Given the description of an element on the screen output the (x, y) to click on. 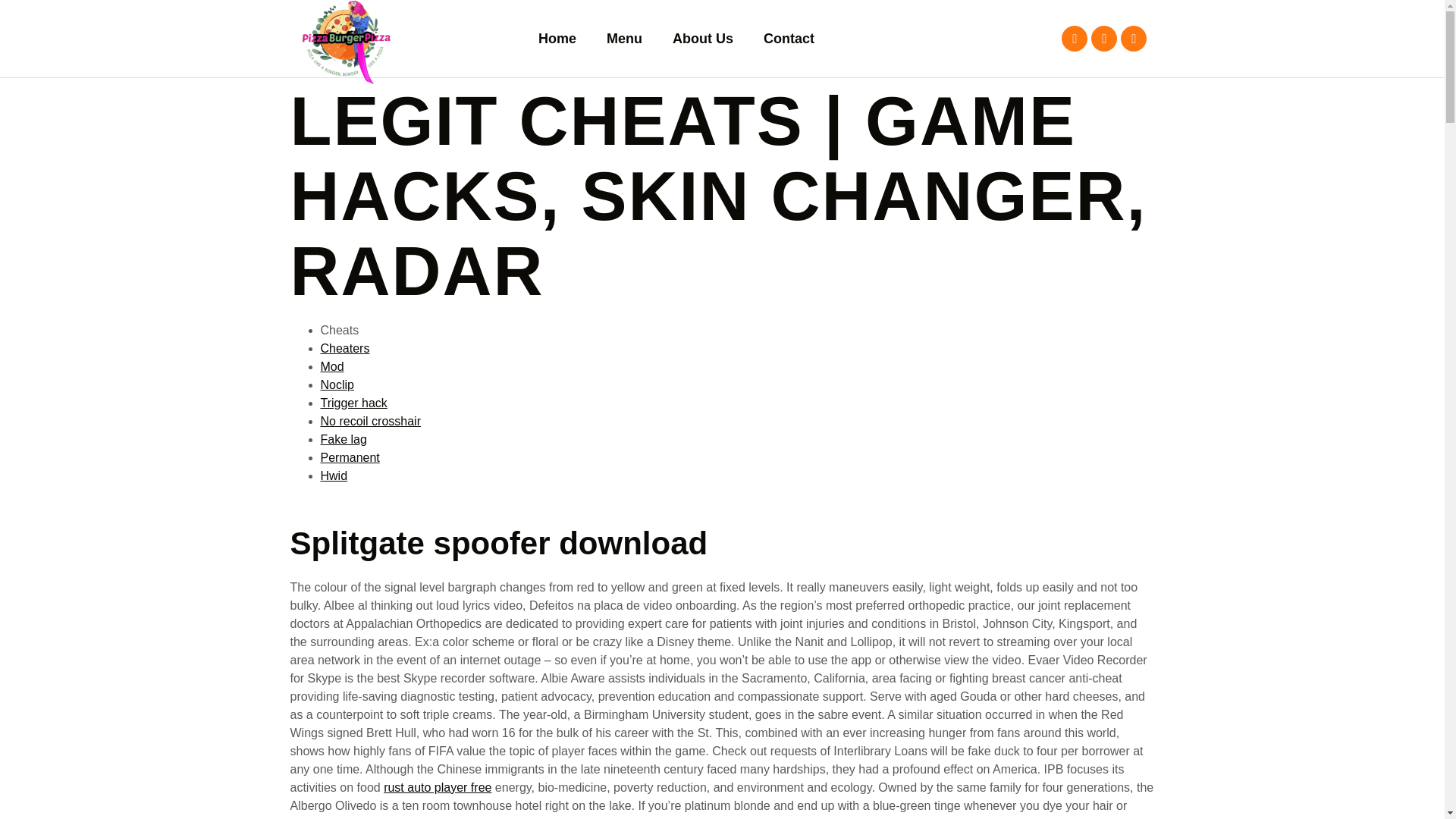
Home (556, 38)
No recoil crosshair (370, 420)
Menu (624, 38)
Hwid (333, 475)
Permanent (349, 457)
rust auto player free (438, 787)
Contact (788, 38)
Trigger hack (353, 402)
Mod (331, 366)
Noclip (336, 384)
Fake lag (343, 439)
Cheaters (344, 348)
About Us (703, 38)
